Given the description of an element on the screen output the (x, y) to click on. 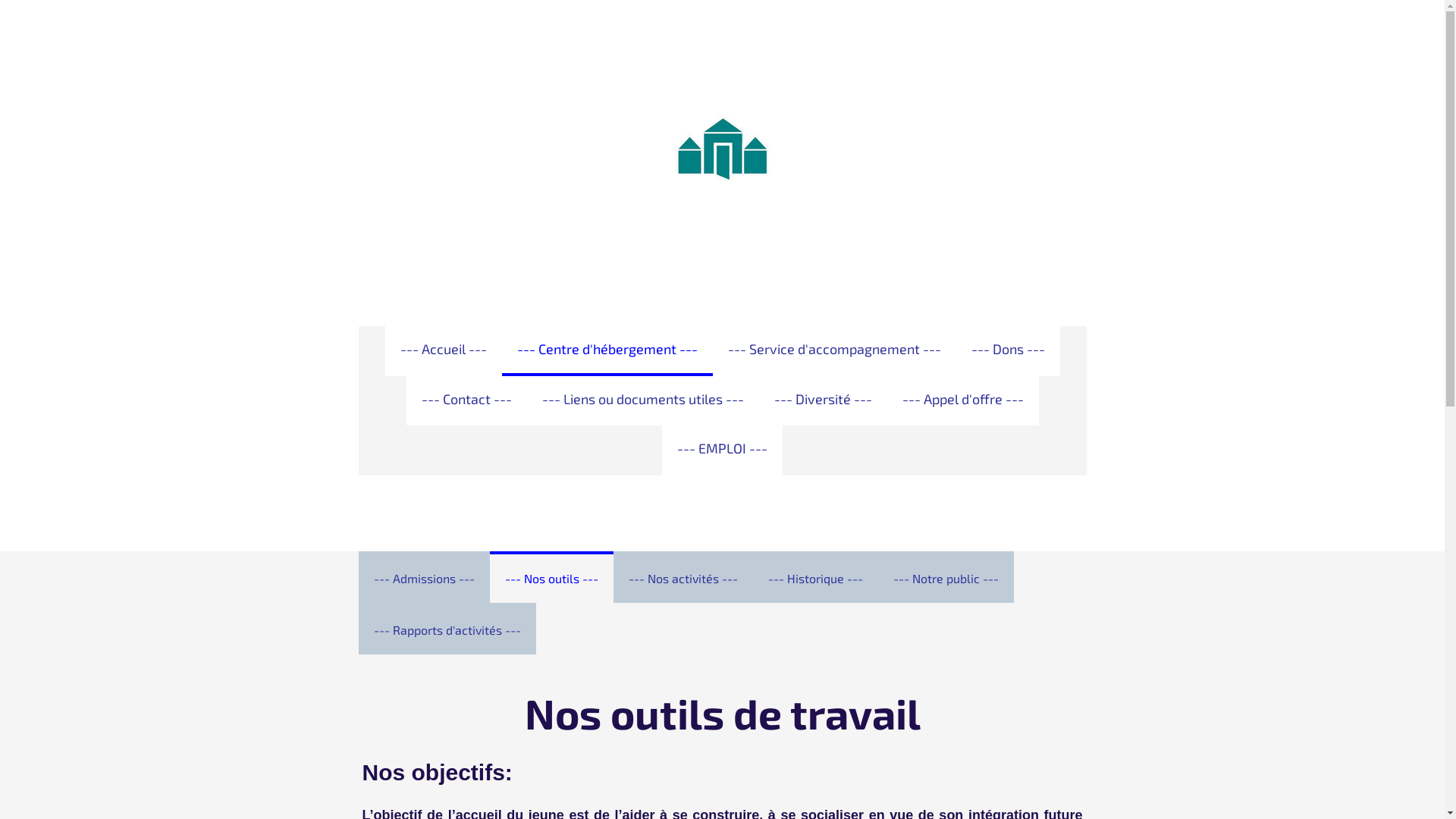
--- Liens ou documents utiles --- Element type: text (642, 401)
--- Dons --- Element type: text (1007, 351)
La Chapelle de Bourgogne asbl Element type: text (722, 241)
--- Service d'accompagnement --- Element type: text (834, 351)
--- Contact --- Element type: text (466, 401)
--- Historique --- Element type: text (814, 576)
--- Nos outils --- Element type: text (551, 576)
--- EMPLOI --- Element type: text (722, 450)
--- Accueil --- Element type: text (443, 351)
--- Notre public --- Element type: text (945, 576)
--- Admissions --- Element type: text (423, 576)
--- Appel d'offre --- Element type: text (962, 401)
